Given the description of an element on the screen output the (x, y) to click on. 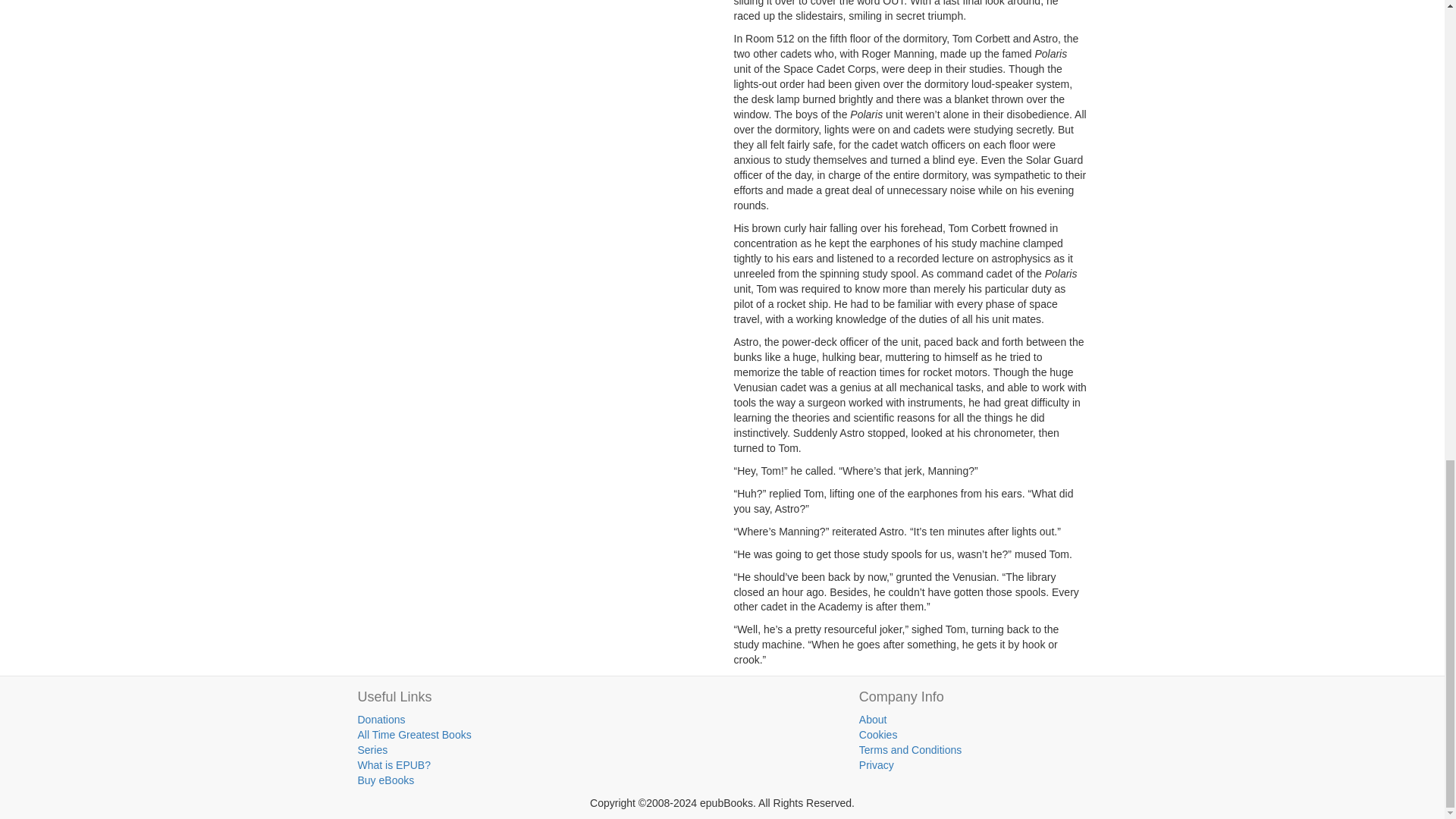
Terms and Conditions (909, 749)
All Time Greatest Books (414, 734)
Cookies (878, 734)
Donations (382, 719)
About (872, 719)
Privacy (876, 765)
What is EPUB? (394, 765)
Series (373, 749)
Buy eBooks (386, 779)
